Given the description of an element on the screen output the (x, y) to click on. 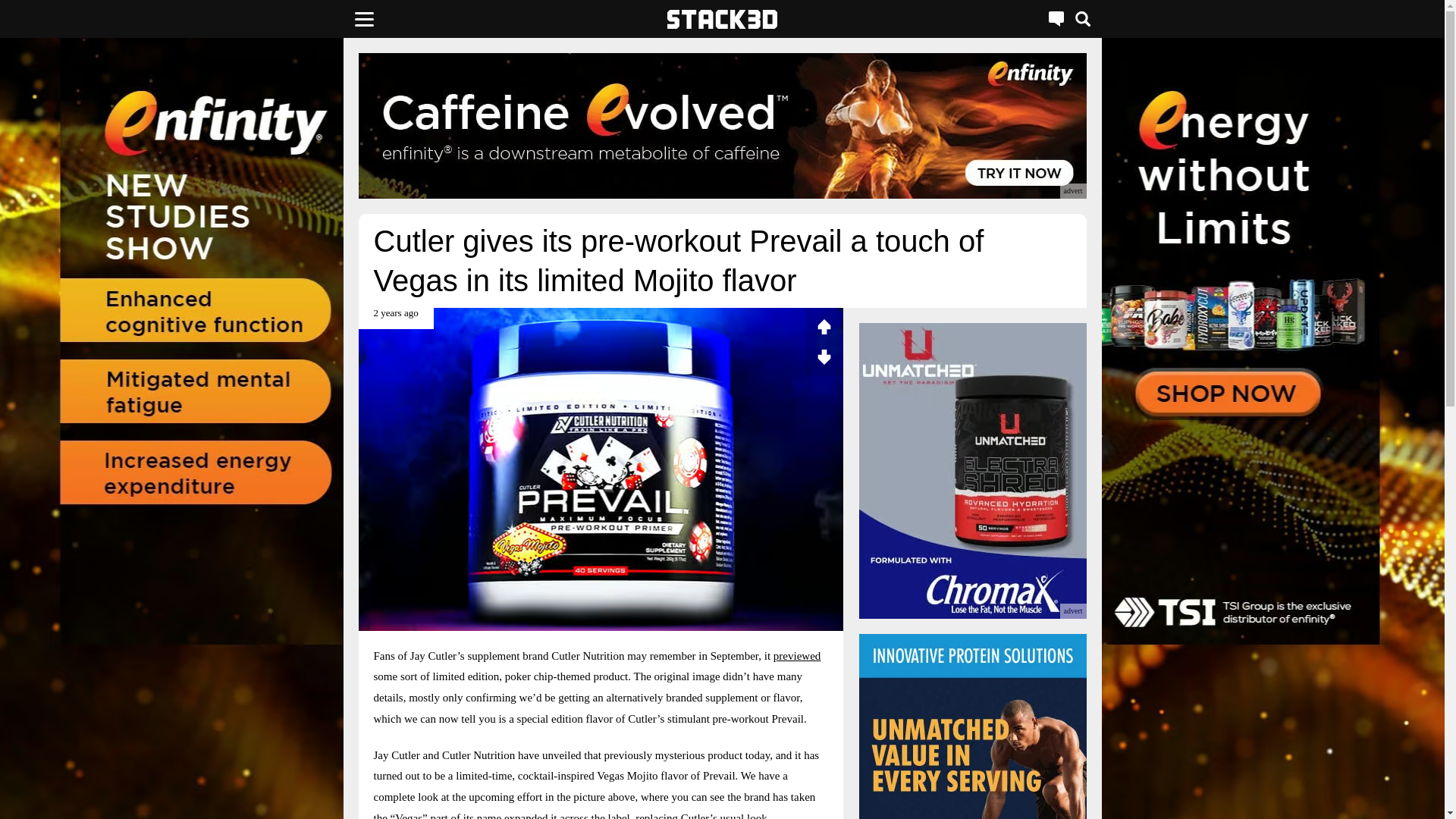
November 18th 2021 (395, 318)
previewed (797, 655)
